Given the description of an element on the screen output the (x, y) to click on. 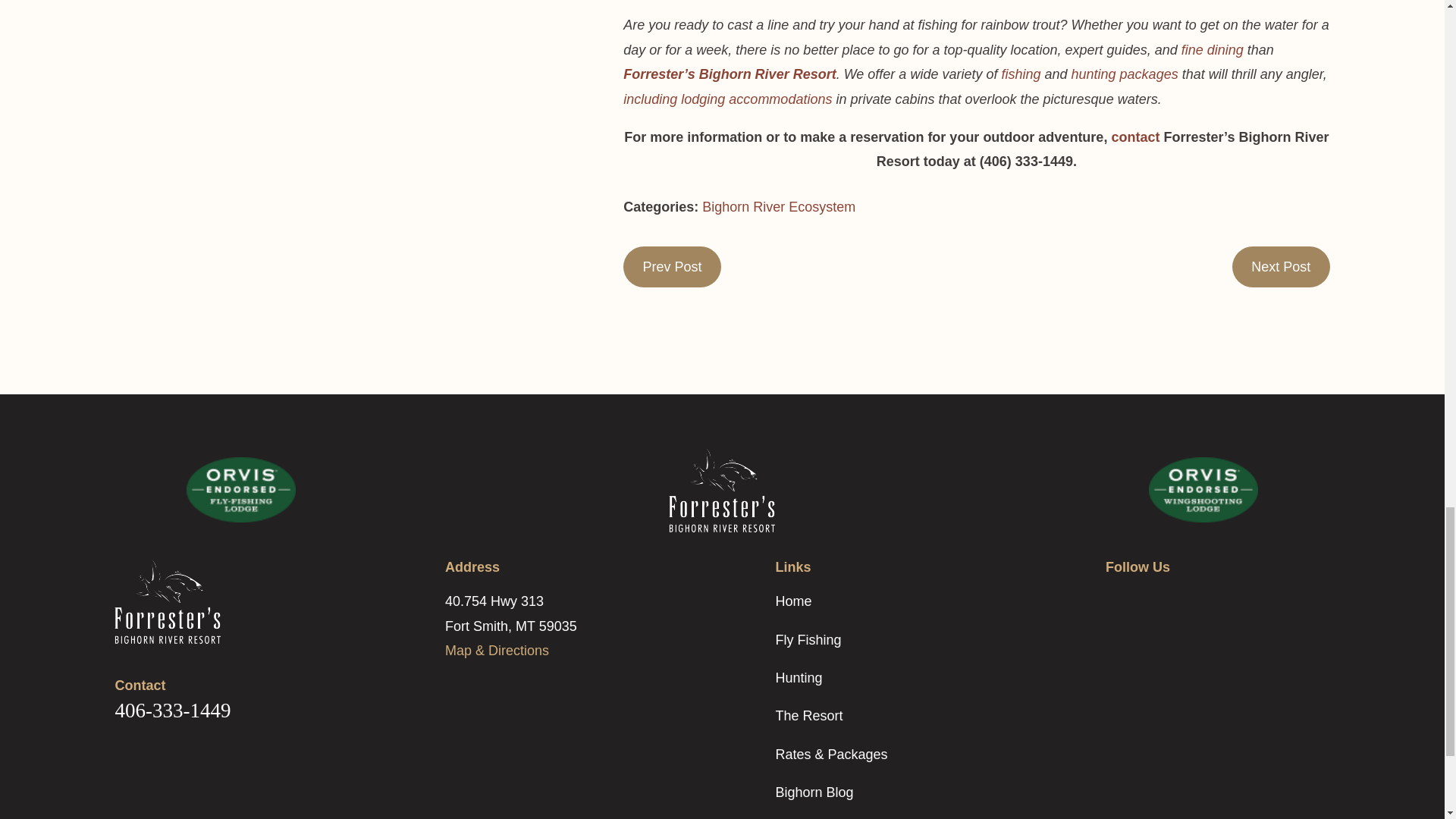
Home (224, 601)
Facebook (1114, 598)
